Given the description of an element on the screen output the (x, y) to click on. 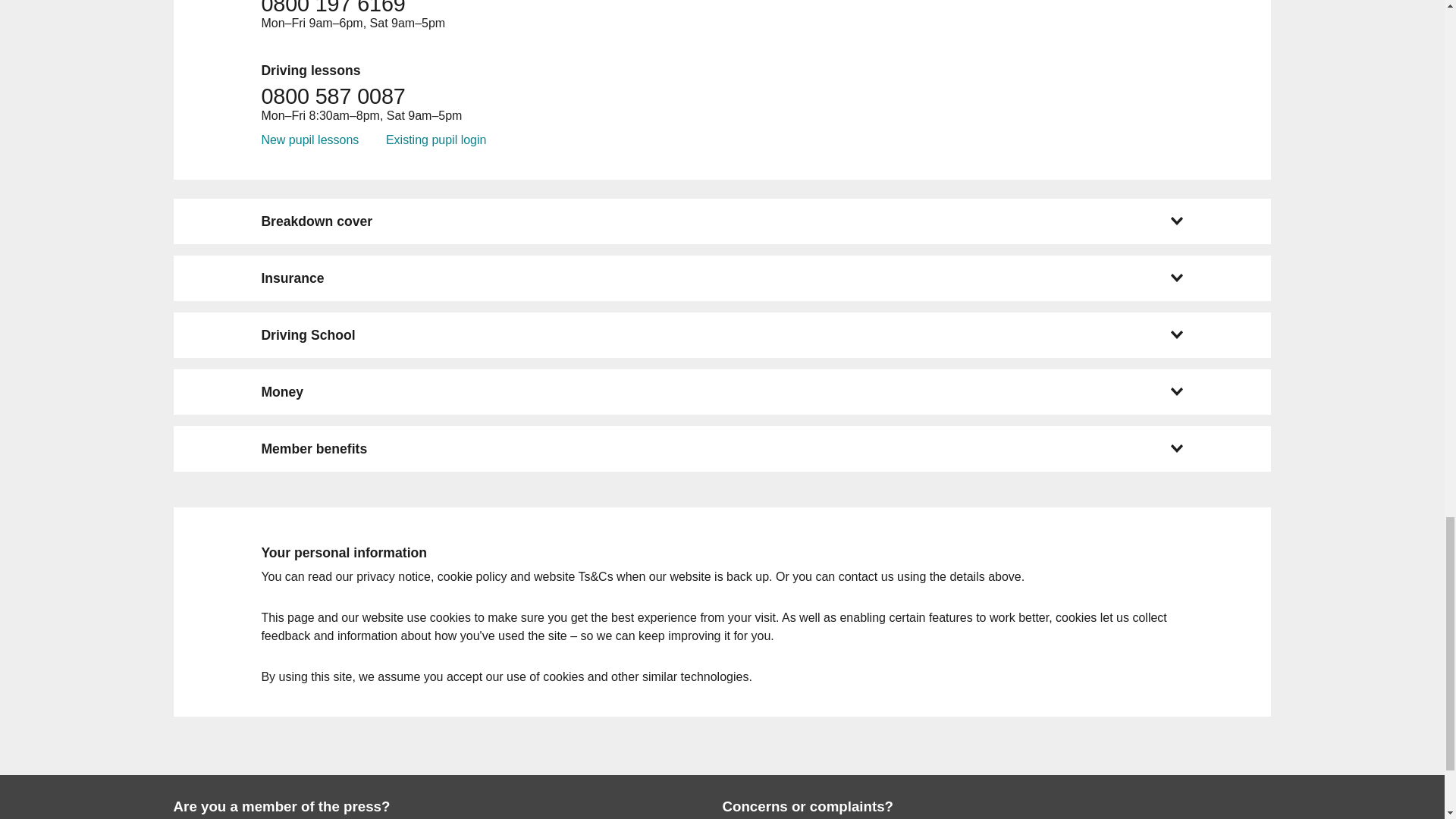
Existing pupil login (435, 140)
New pupil lessons (309, 140)
